Given the description of an element on the screen output the (x, y) to click on. 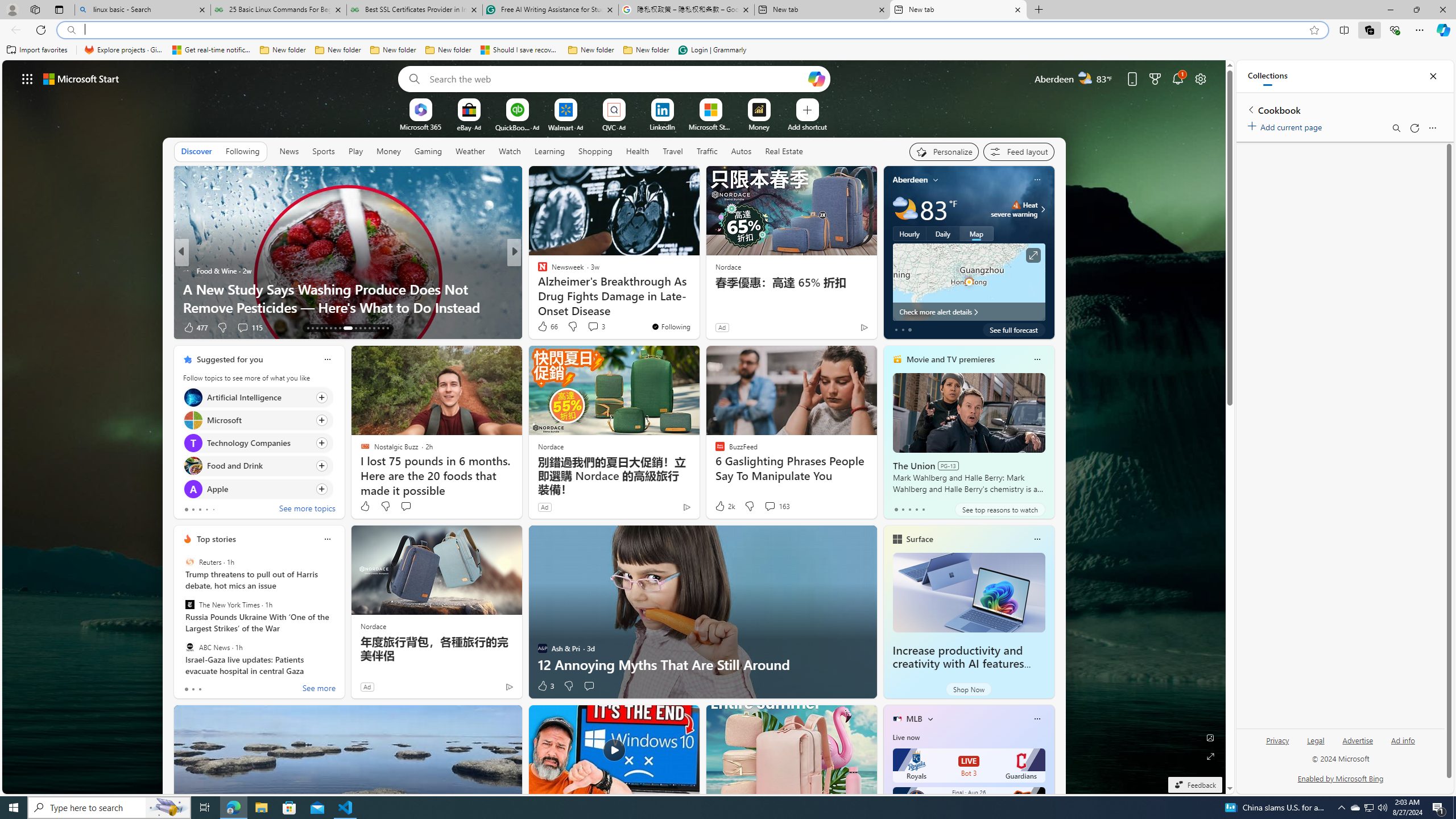
Autos (740, 151)
See top reasons to watch (999, 509)
Class: control (27, 78)
PC World (537, 270)
66 Like (546, 326)
Health (637, 151)
New folder (646, 49)
Gaming (428, 151)
AutomationID: tab-28 (382, 328)
Expand background (1210, 756)
AutomationID: tab-20 (339, 328)
Search icon (70, 29)
Ad info (1402, 740)
